Given the description of an element on the screen output the (x, y) to click on. 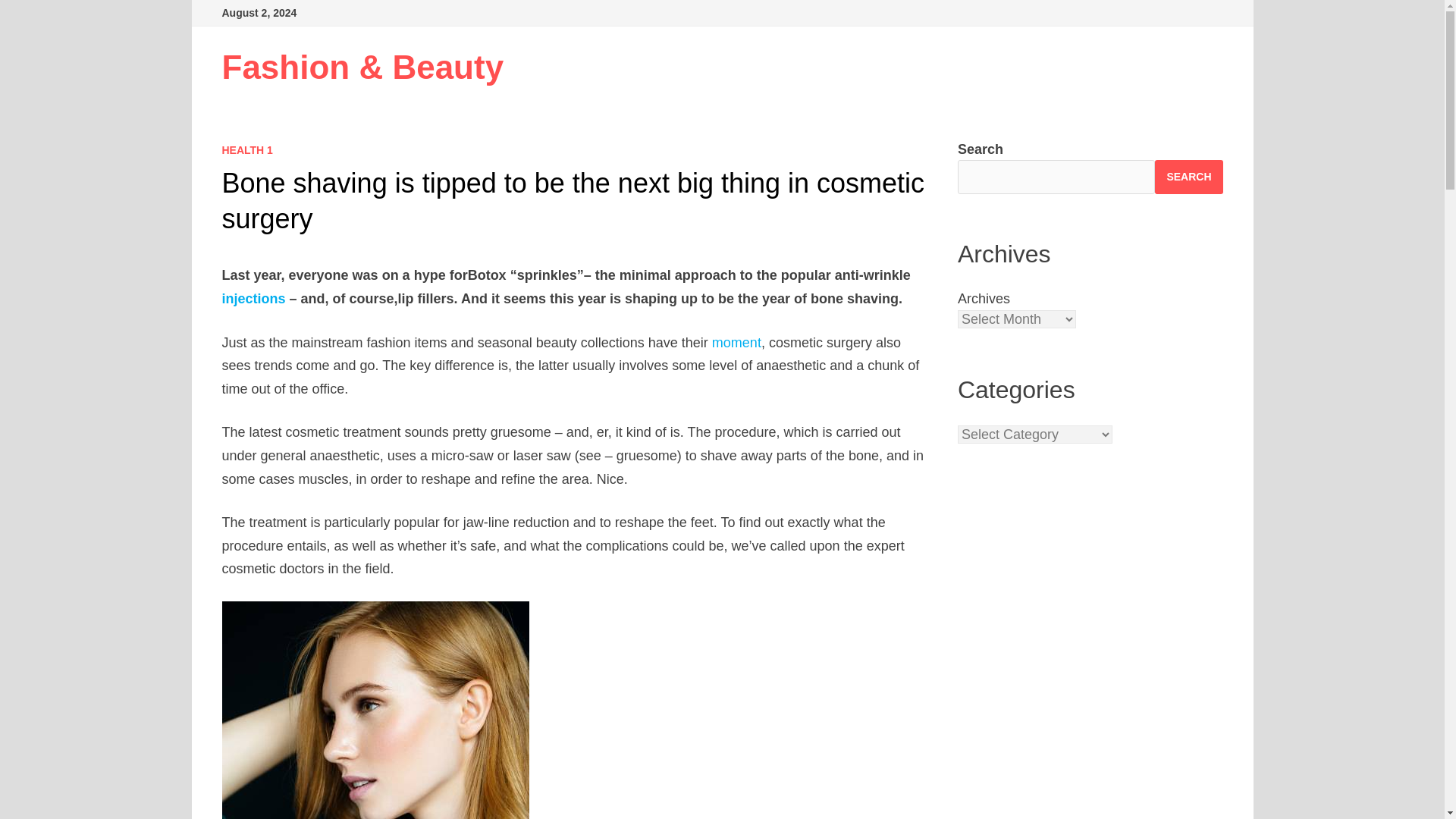
moment (736, 342)
SEARCH (1188, 176)
HEALTH 1 (246, 150)
injections (253, 298)
